Given the description of an element on the screen output the (x, y) to click on. 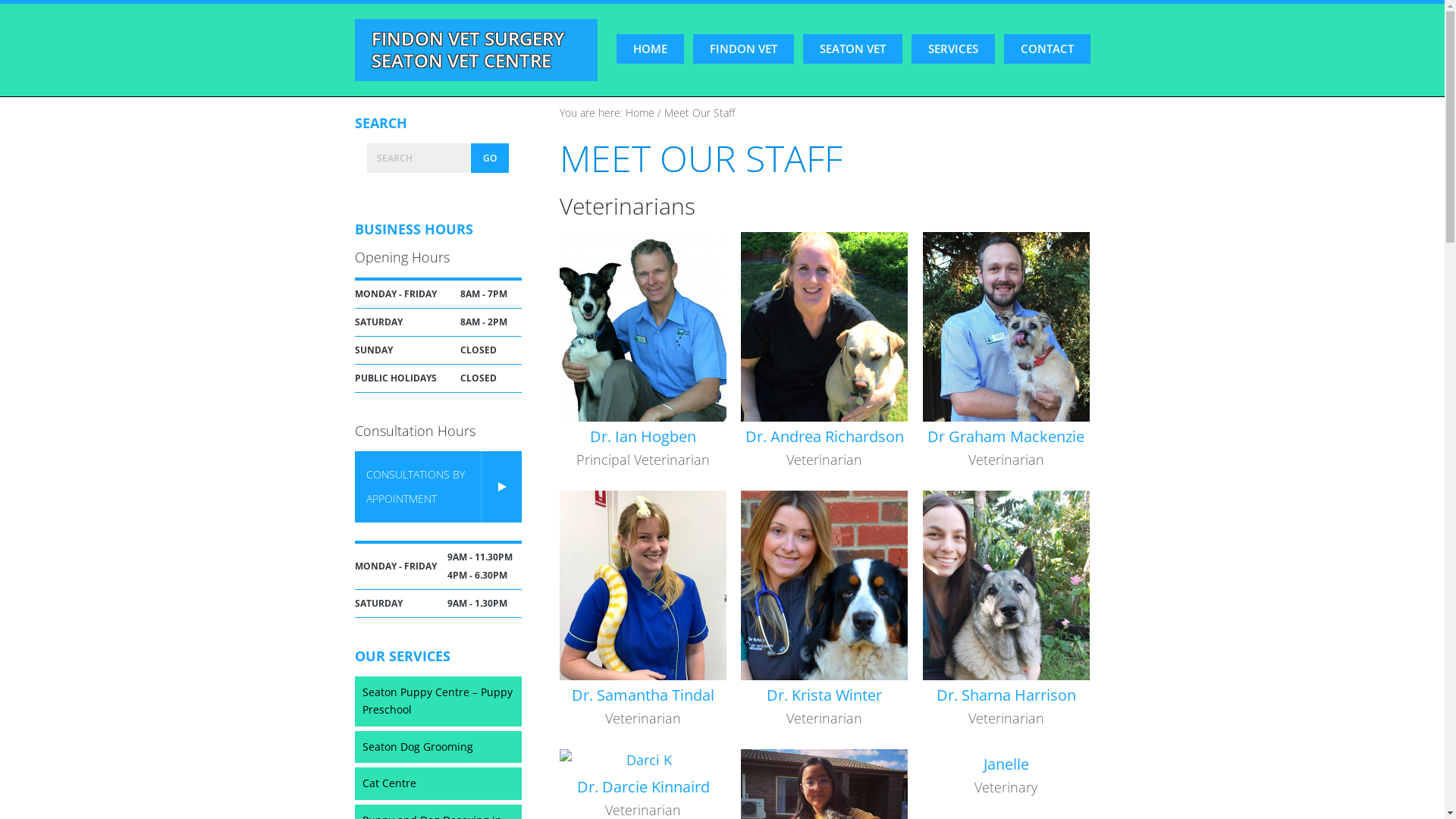
FINDON VET Element type: text (743, 48)
Go Element type: text (489, 157)
Dr Graham Mackenzie Element type: text (1005, 436)
Skip to primary navigation Element type: text (0, 3)
CONTACT Element type: text (1047, 48)
Dr. Andrea Richardson Element type: text (824, 436)
HOME Element type: text (649, 48)
Dr. Ian Hogben Element type: text (642, 436)
Janelle Element type: text (1006, 763)
Home Element type: text (638, 112)
CONSULTATIONS BY APPOINTMENT Element type: text (437, 486)
Dr. Krista Winter Element type: text (823, 694)
Seaton Dog Grooming Element type: text (437, 747)
Cat Centre Element type: text (437, 783)
SERVICES Element type: text (952, 48)
SEATON VET Element type: text (851, 48)
Dr. Sharna Harrison Element type: text (1006, 694)
Dr. Darcie Kinnaird Element type: text (643, 786)
Dr. Samantha Tindal Element type: text (642, 694)
